Given the description of an element on the screen output the (x, y) to click on. 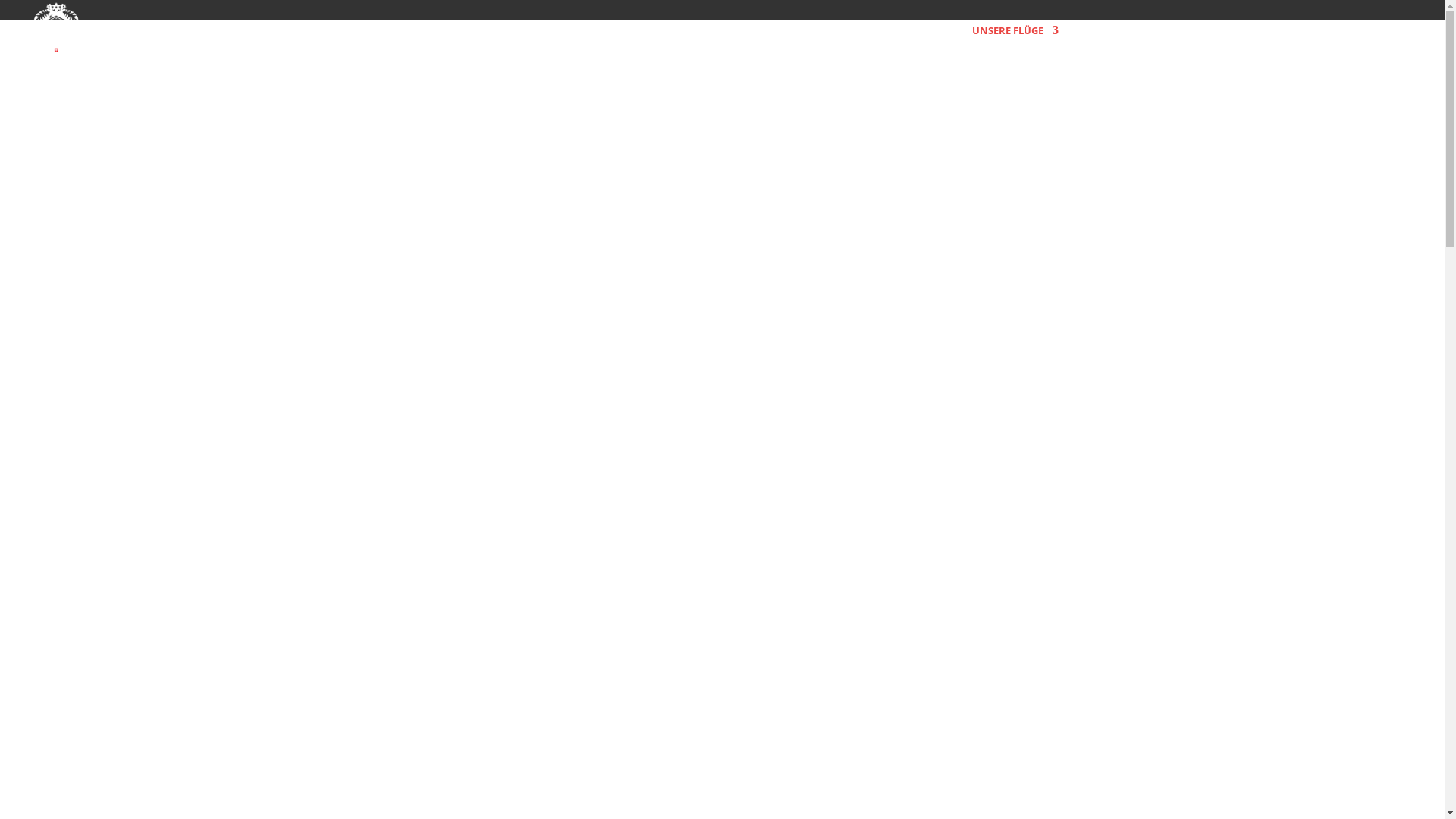
FAQ Element type: text (1207, 42)
BRANDING Element type: text (1102, 42)
DE Element type: text (1406, 42)
HOME Element type: text (940, 42)
KONTAKTE Element type: text (1348, 42)
BILDER Element type: text (1163, 42)
WER SIND WIR Element type: text (1269, 42)
